Given the description of an element on the screen output the (x, y) to click on. 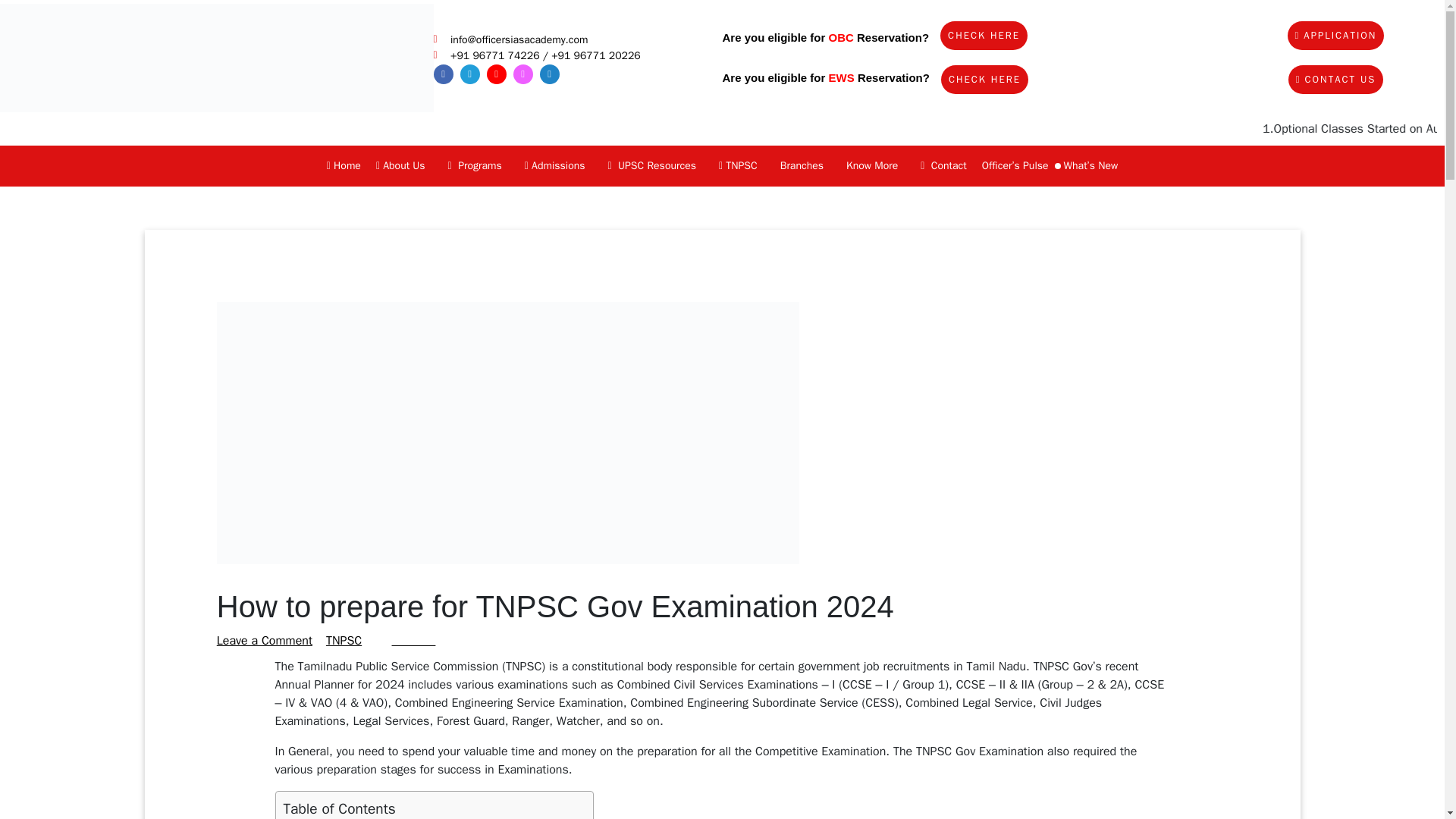
 About Us (404, 166)
Youtube (496, 74)
Facebook (442, 74)
Instagram (522, 74)
 Admissions (557, 166)
Twitter (549, 74)
 Home (343, 166)
View all posts by SEO OIA (413, 640)
CHECK HERE (983, 35)
APPLICATION (1335, 35)
